Given the description of an element on the screen output the (x, y) to click on. 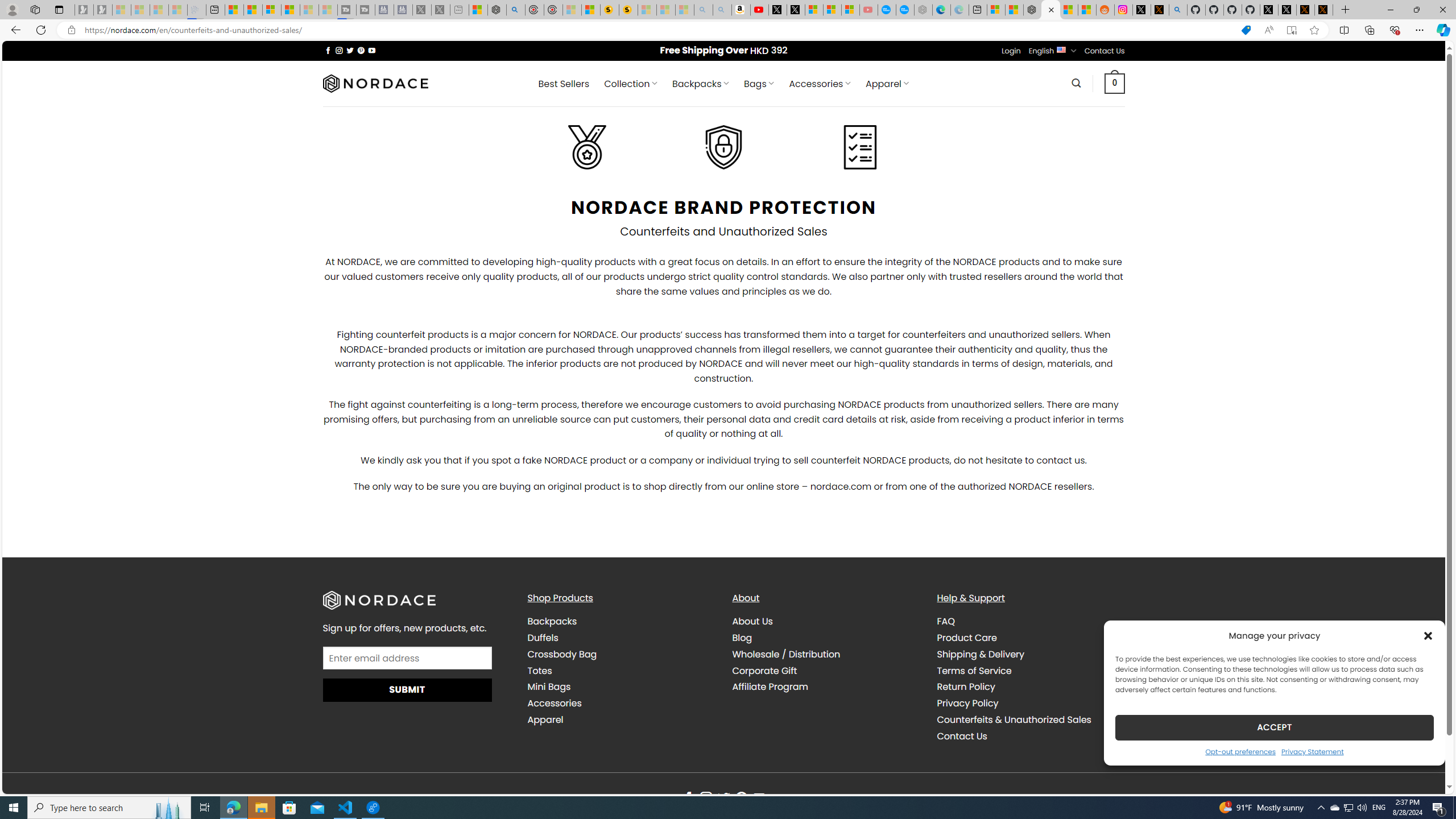
Crossbody Bag (561, 653)
Blog (826, 637)
Wholesale / Distribution (826, 654)
Wholesale / Distribution (786, 653)
Microsoft account | Microsoft Account Privacy Settings (996, 9)
Nordace - Counterfeits and Unauthorized Sales (1050, 9)
X - Sleeping (440, 9)
Opt-out preferences (1240, 750)
Terms of Service (1030, 670)
Gloom - YouTube - Sleeping (868, 9)
Accessories (554, 703)
